Given the description of an element on the screen output the (x, y) to click on. 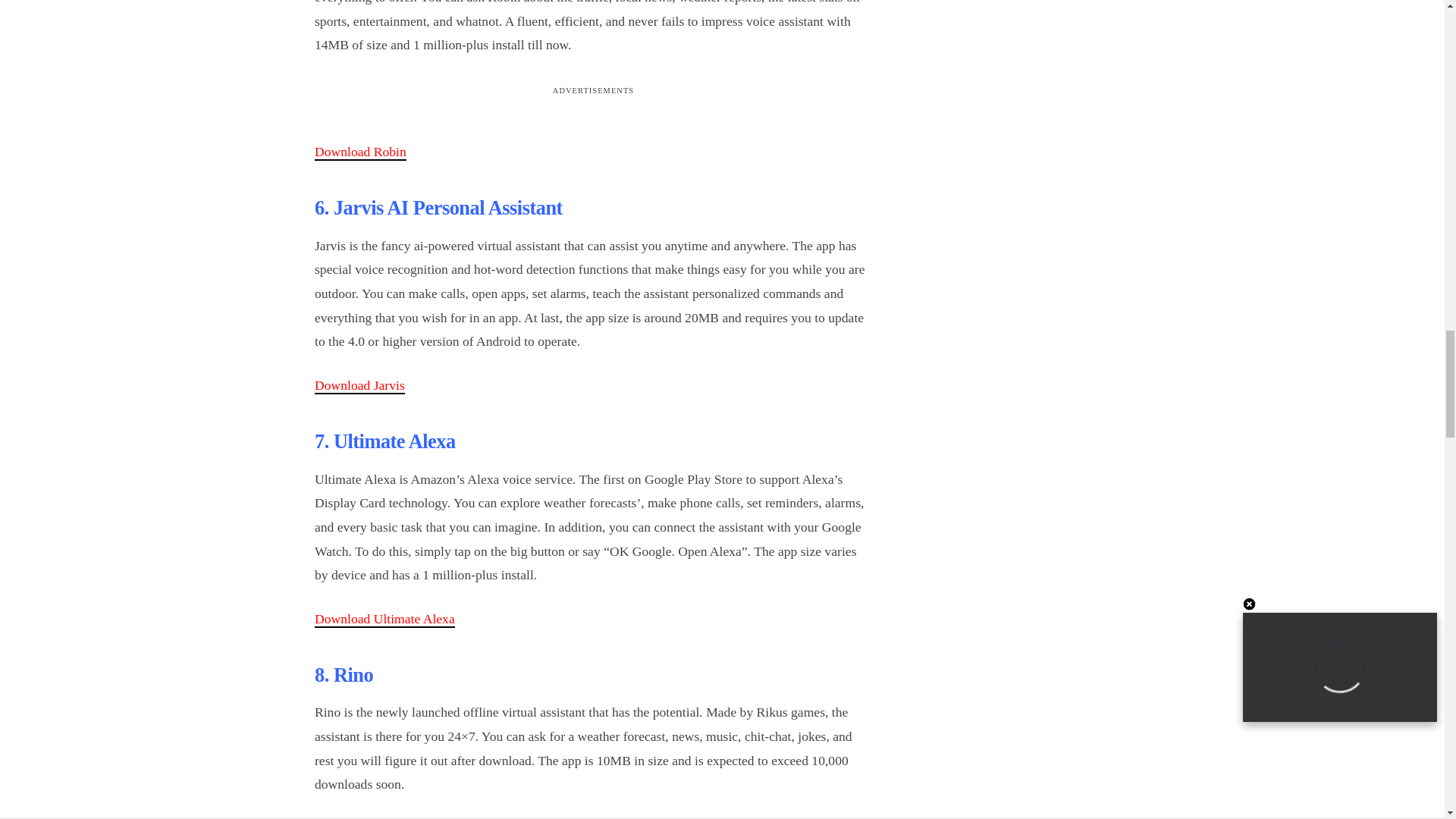
Download Robin (360, 152)
Download Jarvis (359, 385)
Download Ultimate Alexa (384, 619)
